Given the description of an element on the screen output the (x, y) to click on. 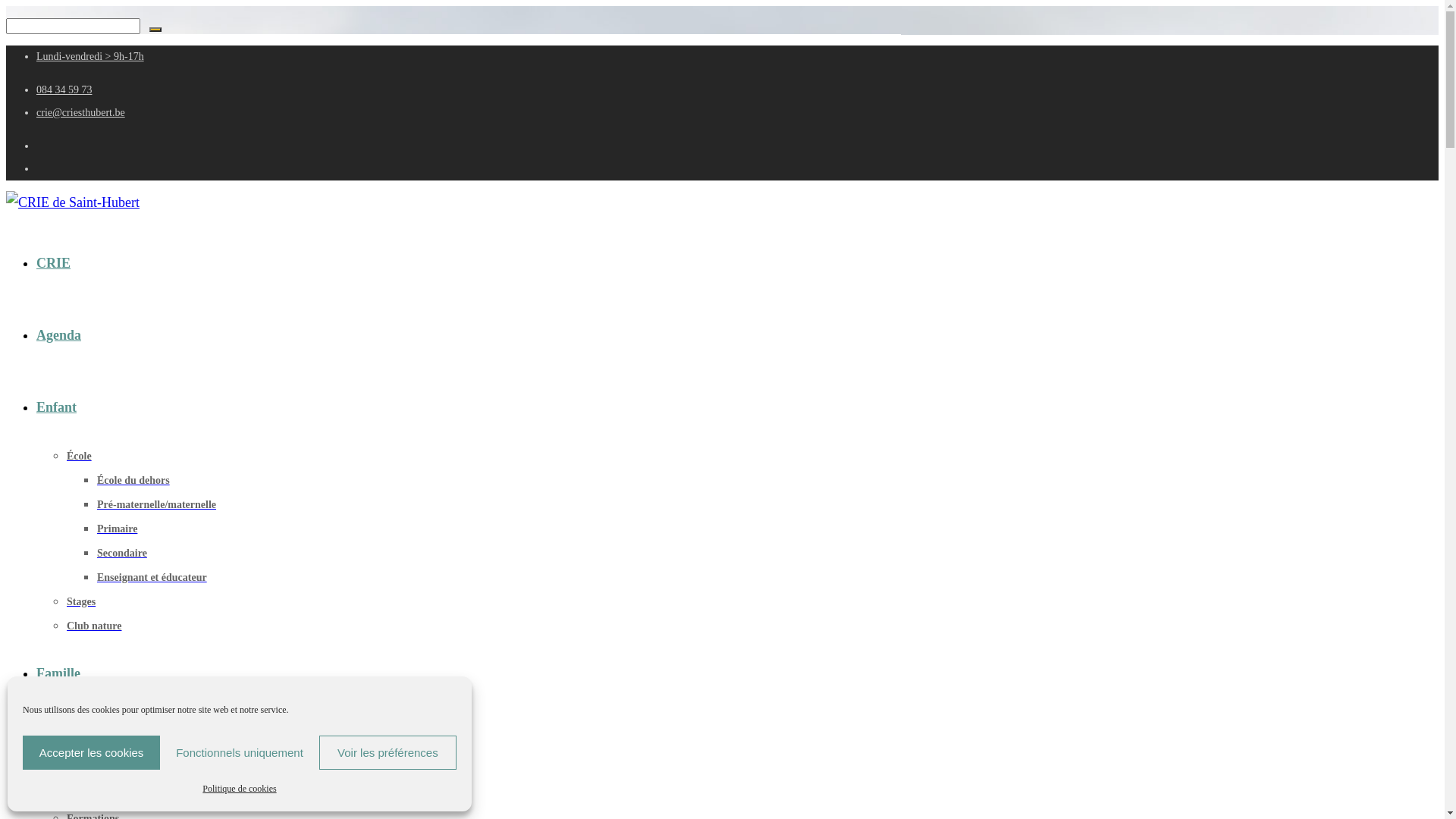
Agenda Element type: text (72, 334)
CRIE Element type: text (67, 262)
Accepter les cookies Element type: text (91, 752)
084 34 59 73 Element type: text (64, 89)
Primaire Element type: text (117, 528)
CRIE de Saint-Hubert Element type: hover (72, 202)
Politique de cookies Element type: text (239, 788)
Fonctionnels uniquement Element type: text (239, 752)
Lundi-vendredi > 9h-17h Element type: text (90, 56)
Secondaire Element type: text (122, 552)
Stages Element type: text (80, 601)
Club nature Element type: text (93, 625)
Famille Element type: text (72, 672)
crie@criesthubert.be Element type: text (80, 112)
Adulte Element type: text (69, 745)
Enfant Element type: text (70, 406)
